Given the description of an element on the screen output the (x, y) to click on. 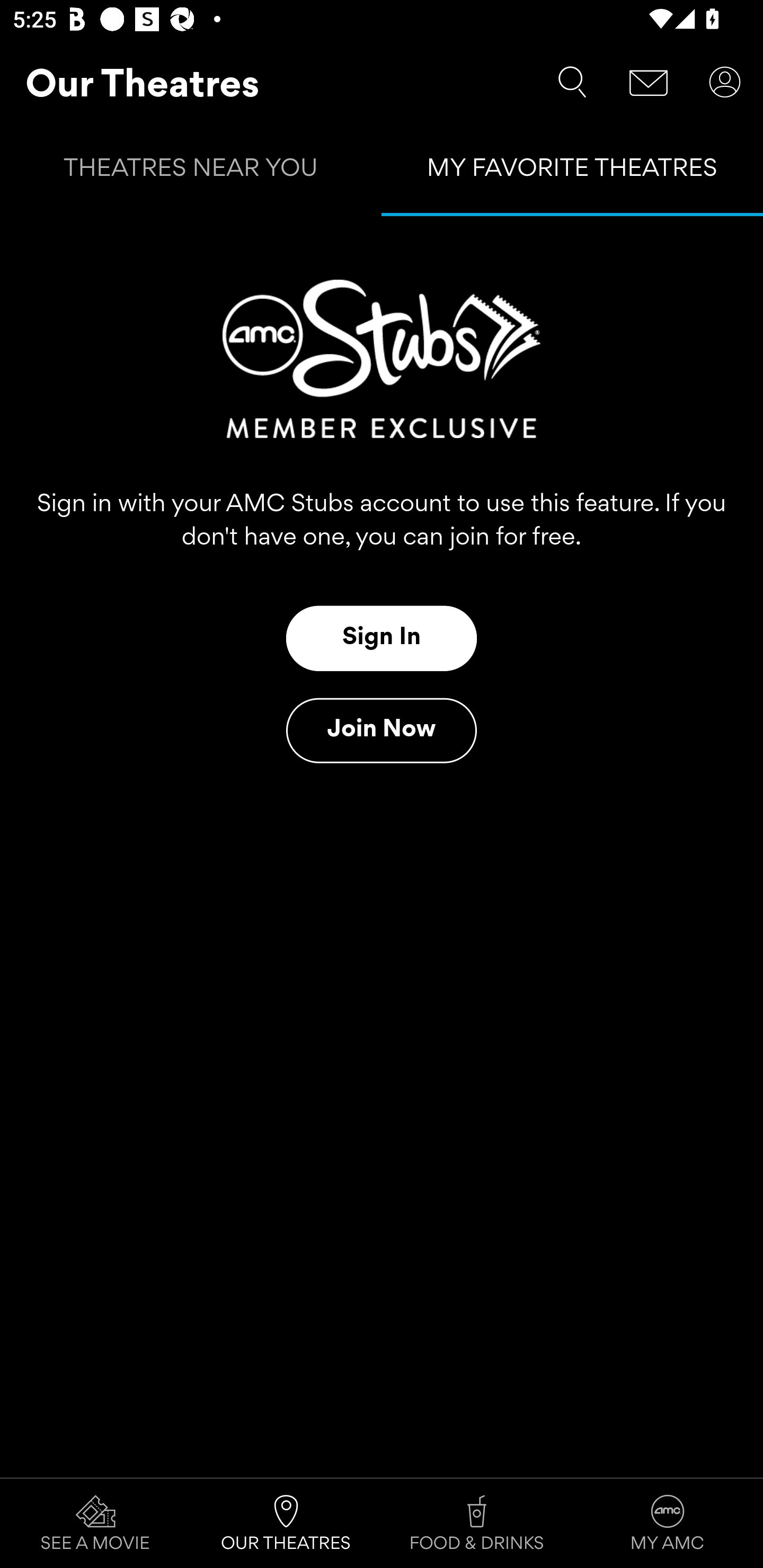
Search (572, 82)
Message Center (648, 82)
User Account (724, 82)
THEATRES NEAR YOU
Tab 1 of 2 (190, 171)
MY FAVORITE THEATRES
Tab 2 of 2 (572, 171)
Sign In (381, 637)
Join Now (381, 730)
SEE A MOVIE
Tab 1 of 4 (95, 1523)
OUR THEATRES
Tab 2 of 4 (285, 1523)
FOOD & DRINKS
Tab 3 of 4 (476, 1523)
MY AMC
Tab 4 of 4 (667, 1523)
